Given the description of an element on the screen output the (x, y) to click on. 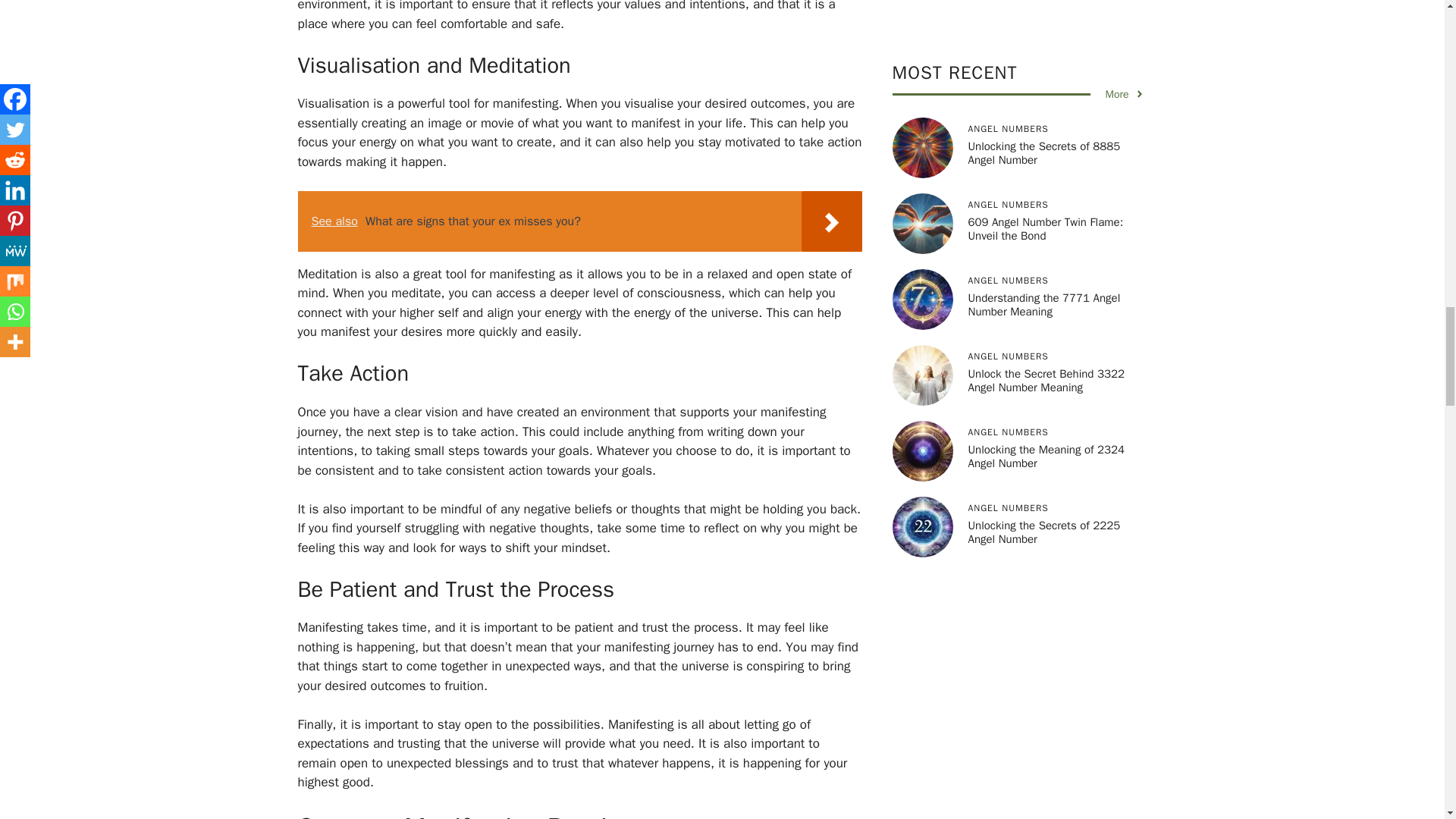
See also  What are signs that your ex misses you? (579, 220)
